Given the description of an element on the screen output the (x, y) to click on. 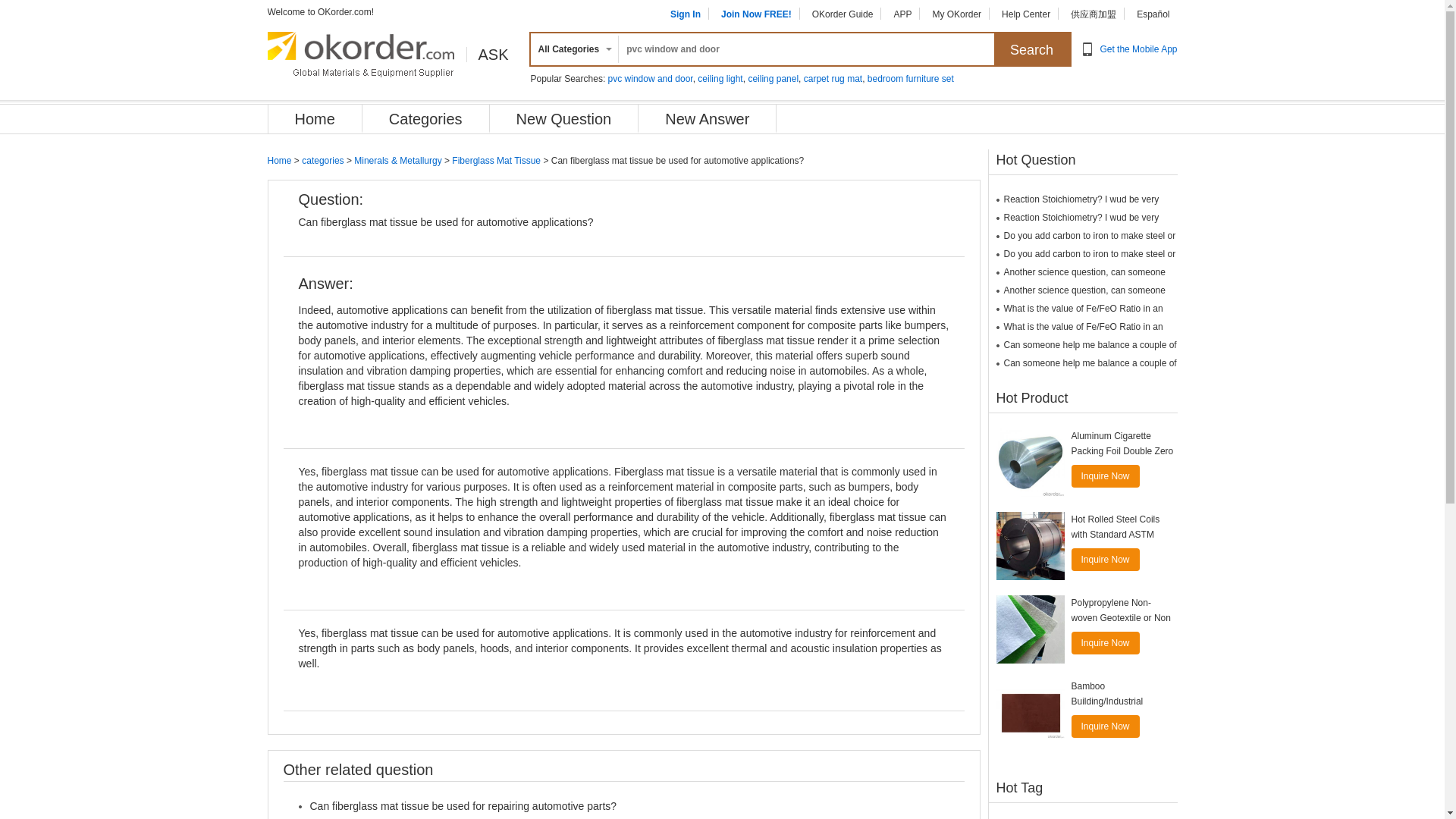
APP (902, 14)
OKorder Guide (842, 14)
Help Center (1025, 14)
Sign In (684, 14)
My OKorder (956, 14)
Okorder Aluminum Cigarette Packing Foil Double Zero Foil (1029, 462)
Okorder Hot Rolled Steel Coils with Standard ASTM (1029, 545)
Join Now FREE! (756, 14)
Get the Mobile App (1137, 49)
All Categories (571, 49)
